Given the description of an element on the screen output the (x, y) to click on. 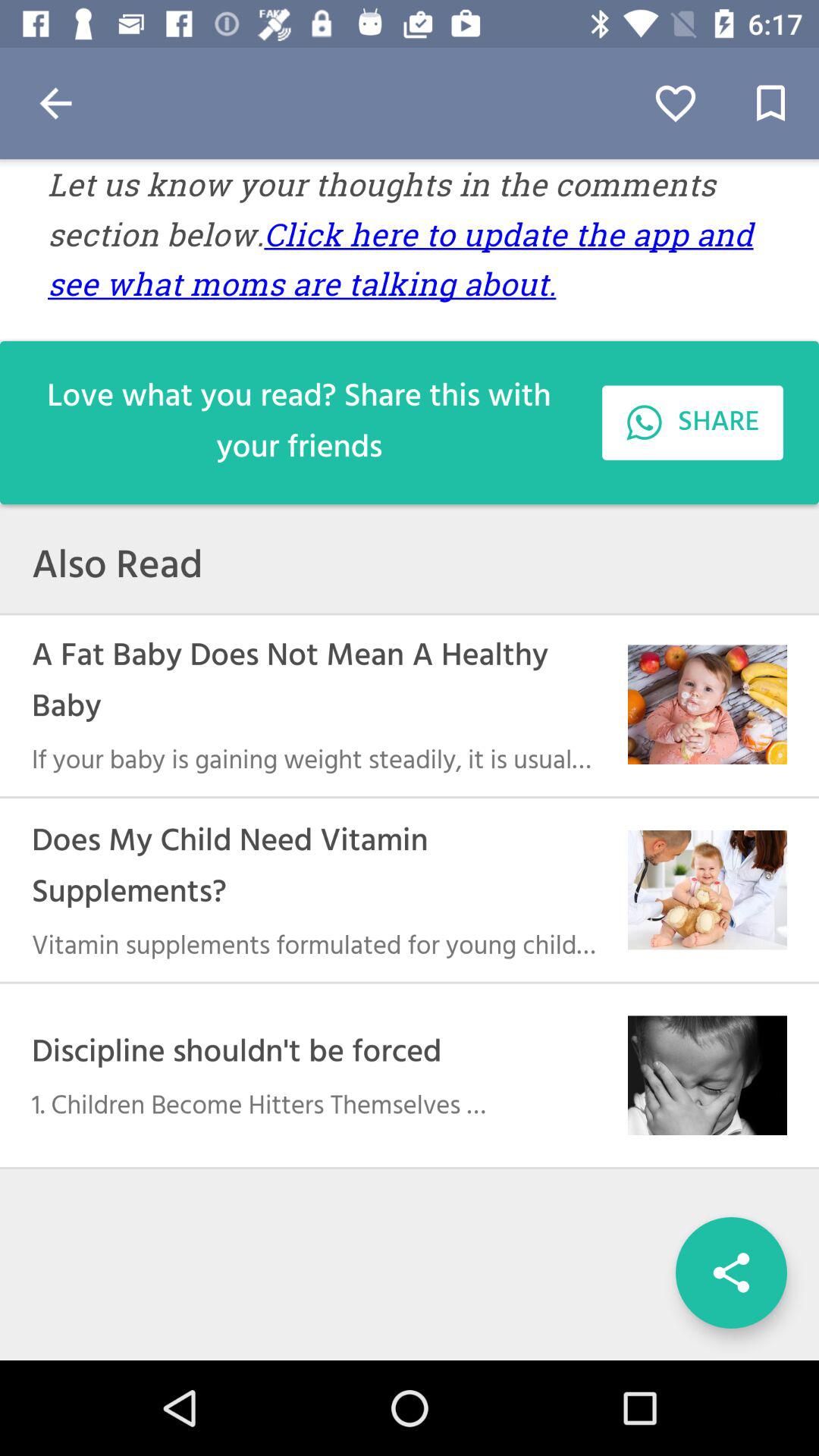
click to share option (731, 1272)
